Given the description of an element on the screen output the (x, y) to click on. 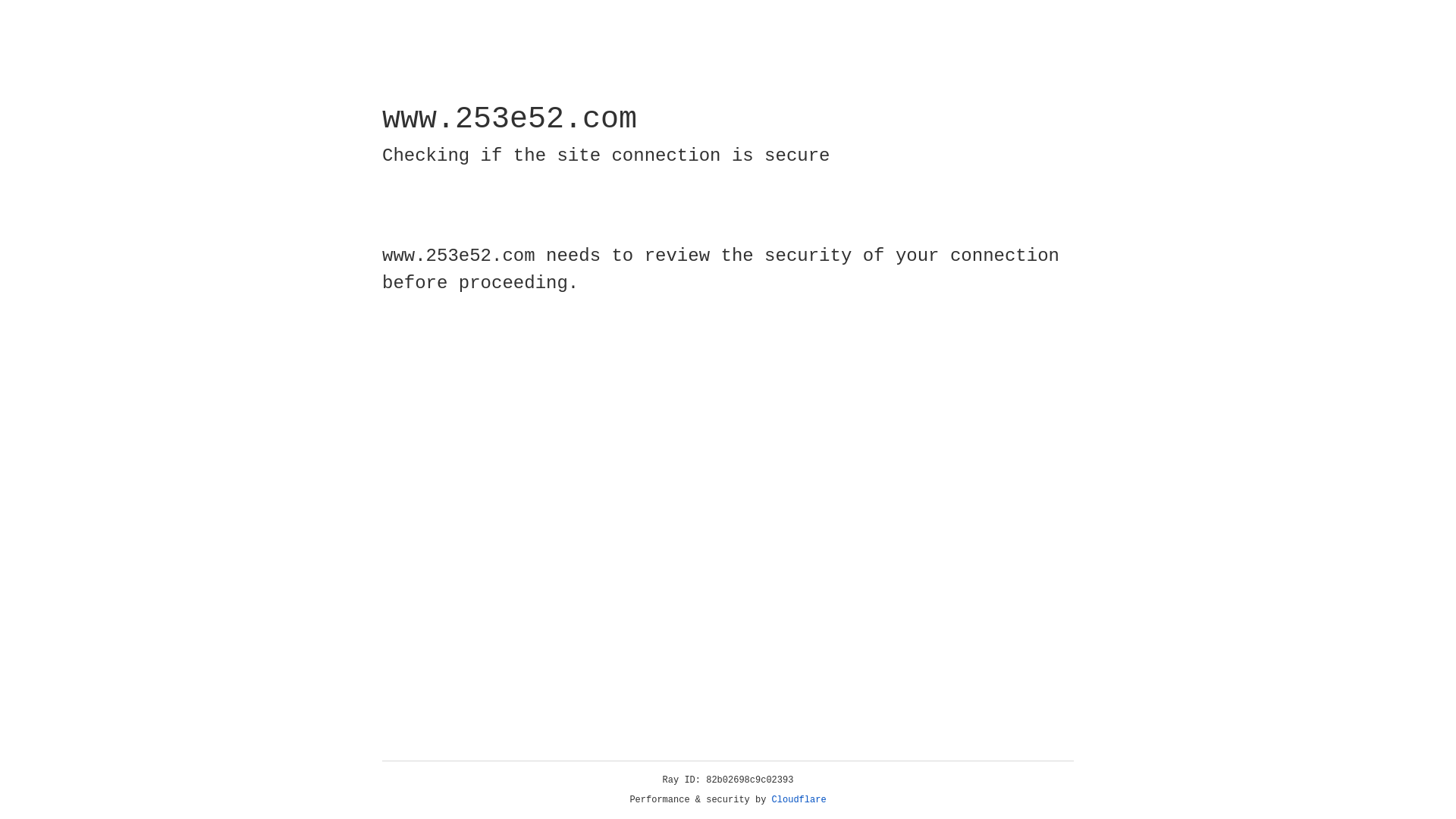
Cloudflare Element type: text (798, 799)
